Given the description of an element on the screen output the (x, y) to click on. 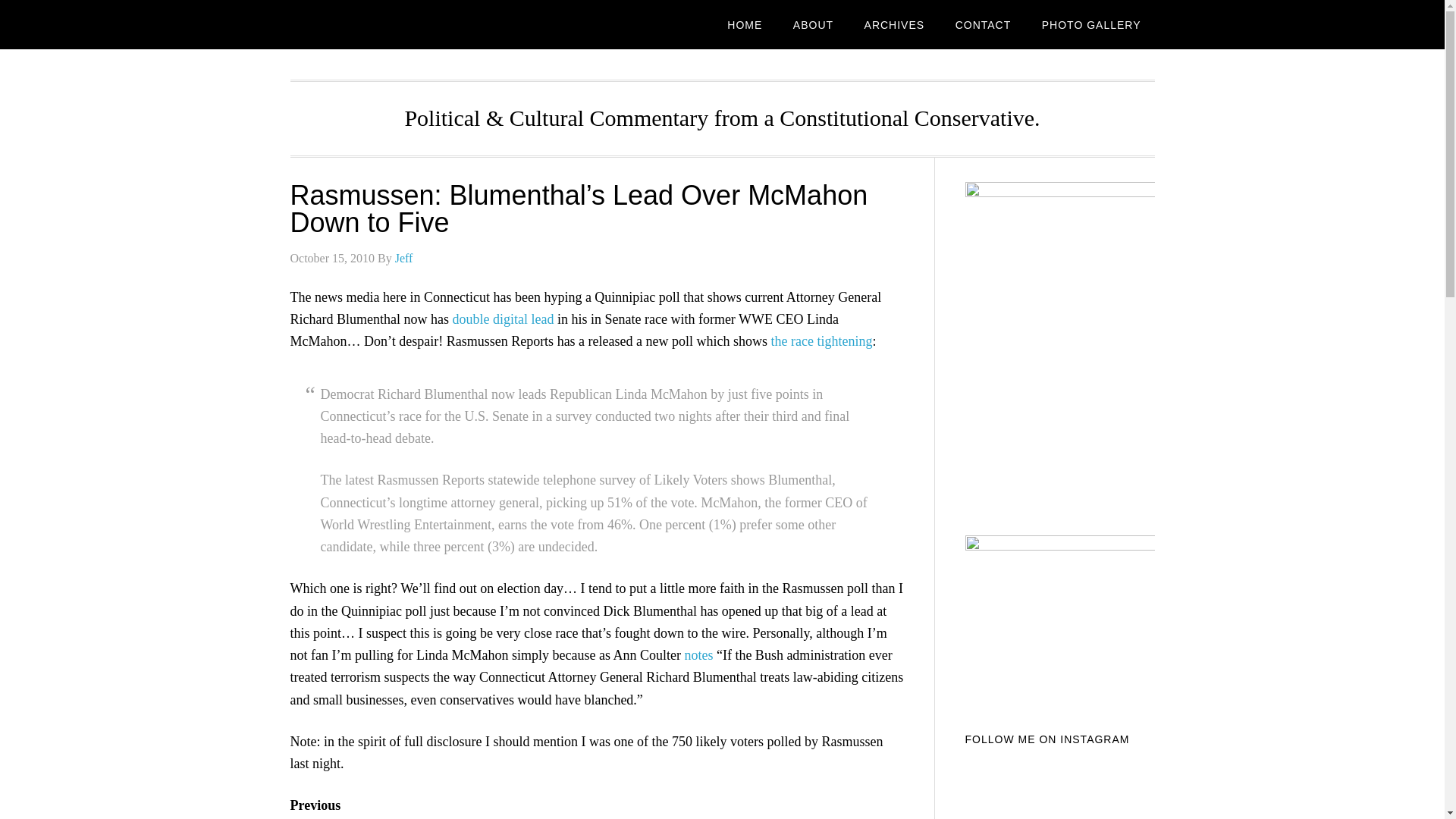
JEFFREY A. SETARO (410, 24)
CONTACT (983, 24)
HOME (744, 24)
the race tightening (821, 340)
double digital lead (502, 319)
ARCHIVES (894, 24)
Jeff (403, 257)
PHOTO GALLERY (1090, 24)
ABOUT (812, 24)
notes (698, 654)
